Given the description of an element on the screen output the (x, y) to click on. 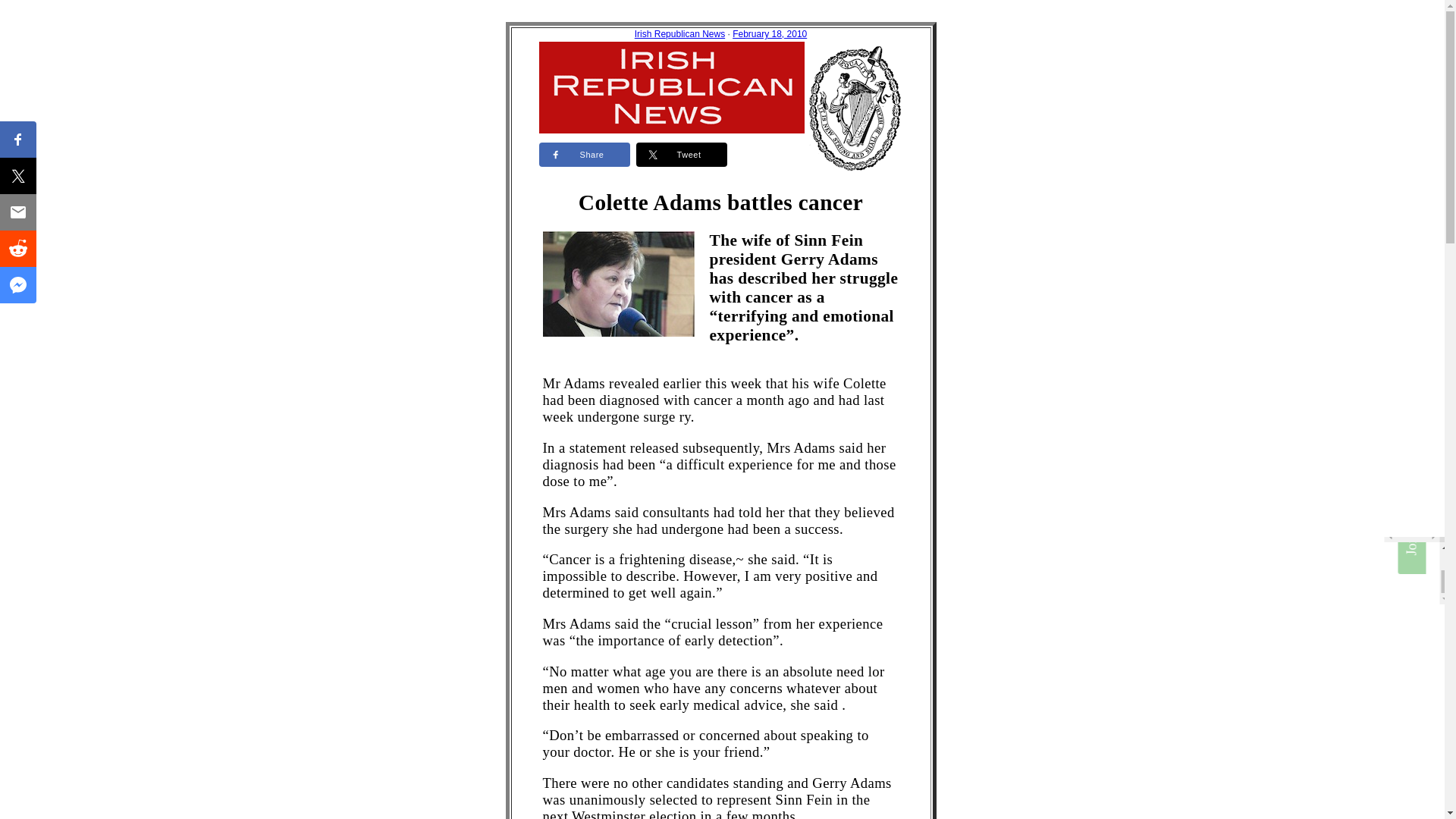
Irish Republican News (679, 33)
February 18, 2010 (769, 33)
